Given the description of an element on the screen output the (x, y) to click on. 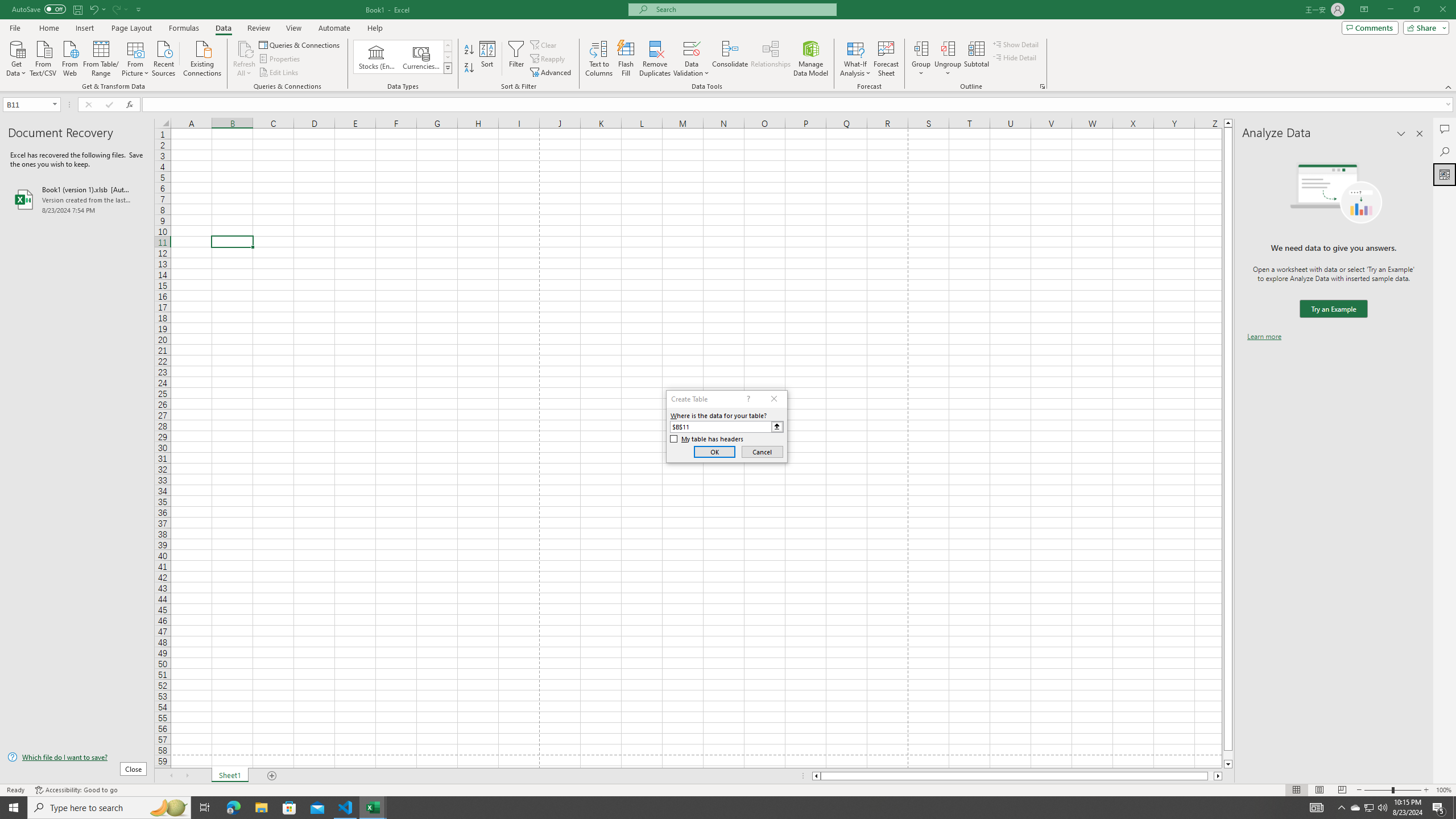
Scroll Right (187, 775)
Sort... (487, 58)
Data Validation... (691, 58)
